Given the description of an element on the screen output the (x, y) to click on. 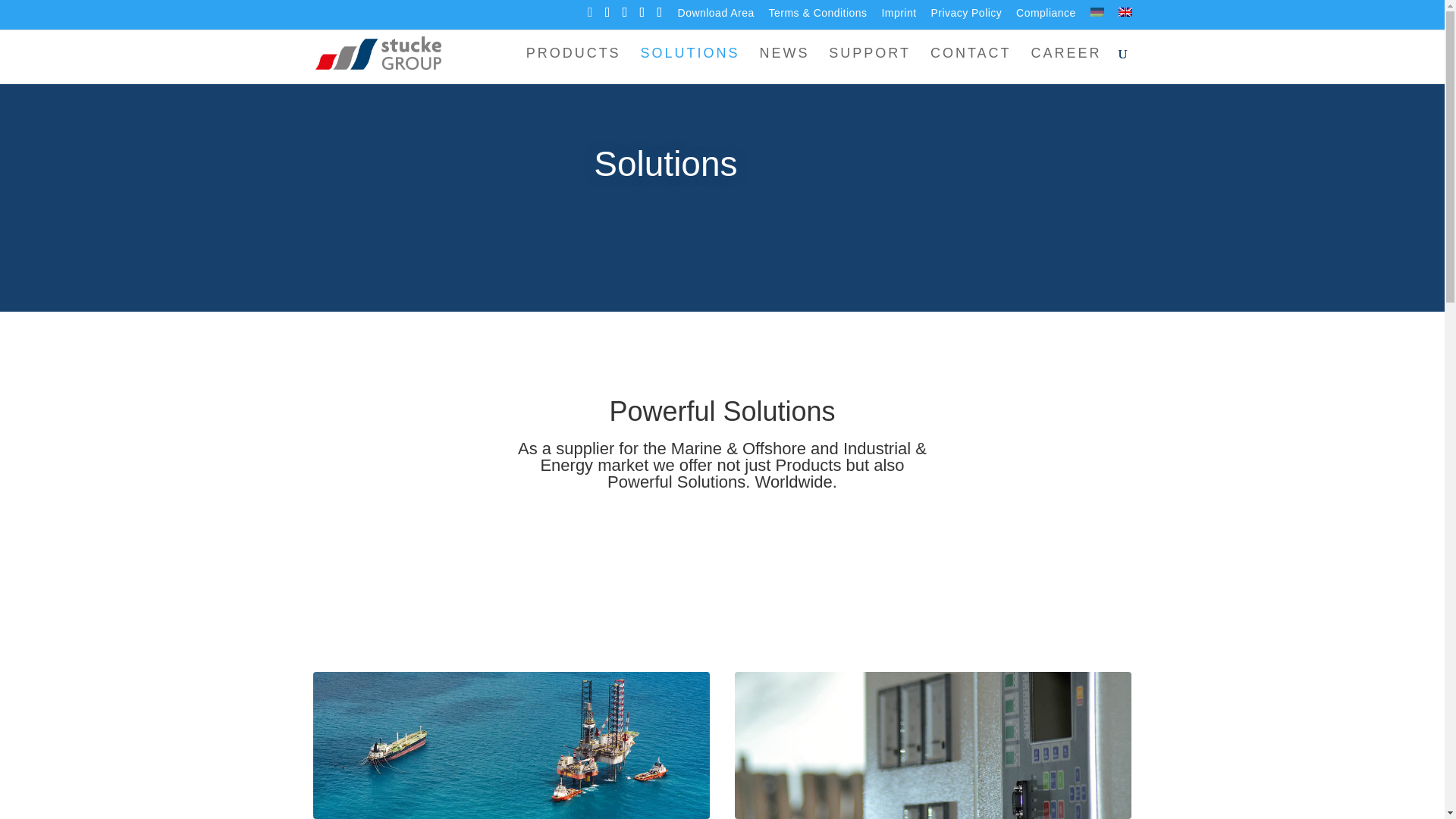
Compliance (1045, 16)
Imprint (897, 16)
stucke-loesungen-2-projekt (933, 745)
Privacy Policy (965, 16)
CAREER (1065, 65)
SUPPORT (869, 65)
NEWS (783, 65)
Download Area (716, 16)
stucke-loesungen-1-beratung (511, 745)
PRODUCTS (573, 65)
